Given the description of an element on the screen output the (x, y) to click on. 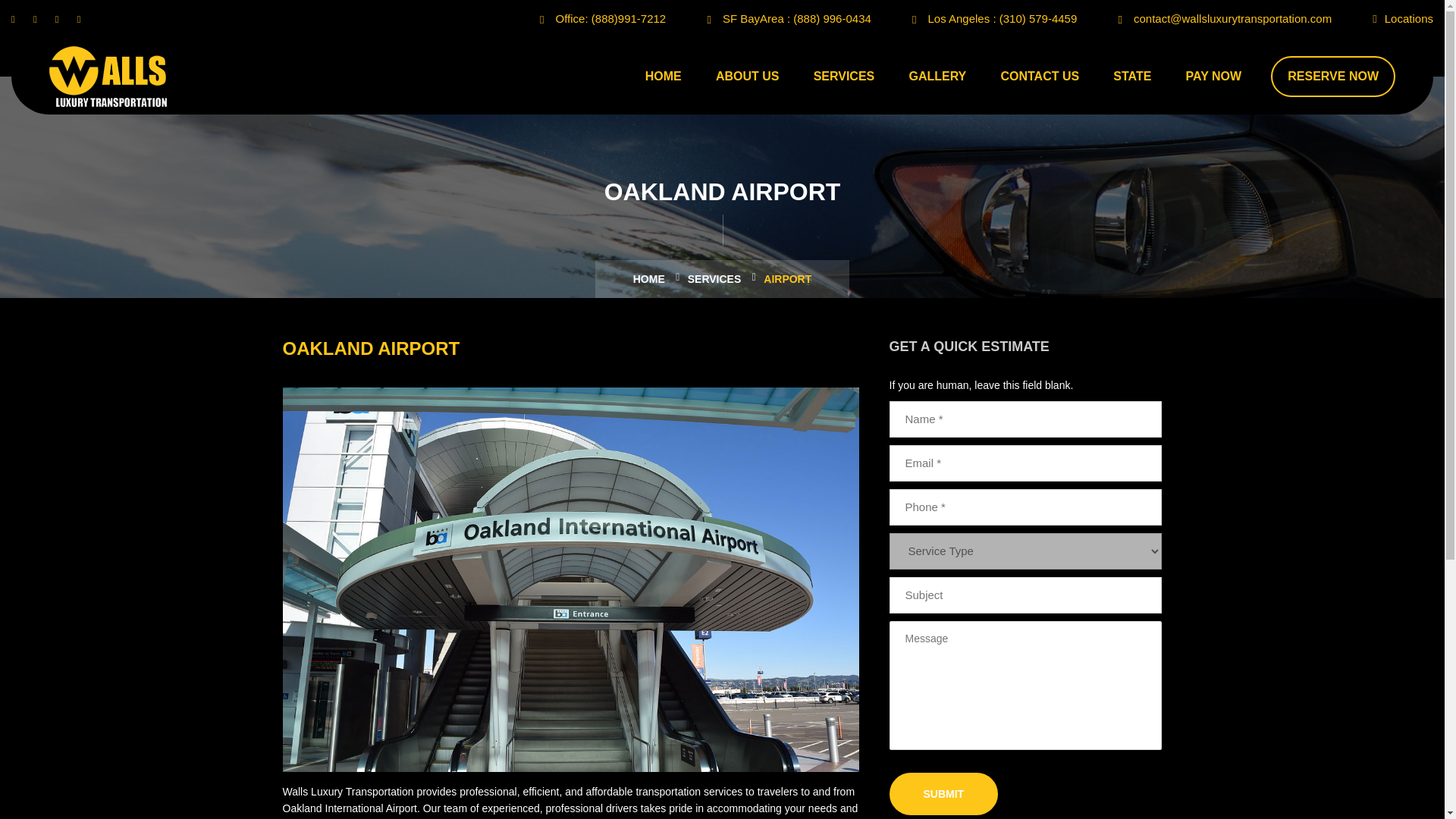
RESERVE NOW (1332, 76)
STATE (1132, 76)
HOME (662, 76)
PAY NOW (1213, 76)
Locations (1408, 18)
CONTACT US (1039, 76)
ABOUT US (747, 76)
GALLERY (937, 76)
SERVICES (844, 76)
